Given the description of an element on the screen output the (x, y) to click on. 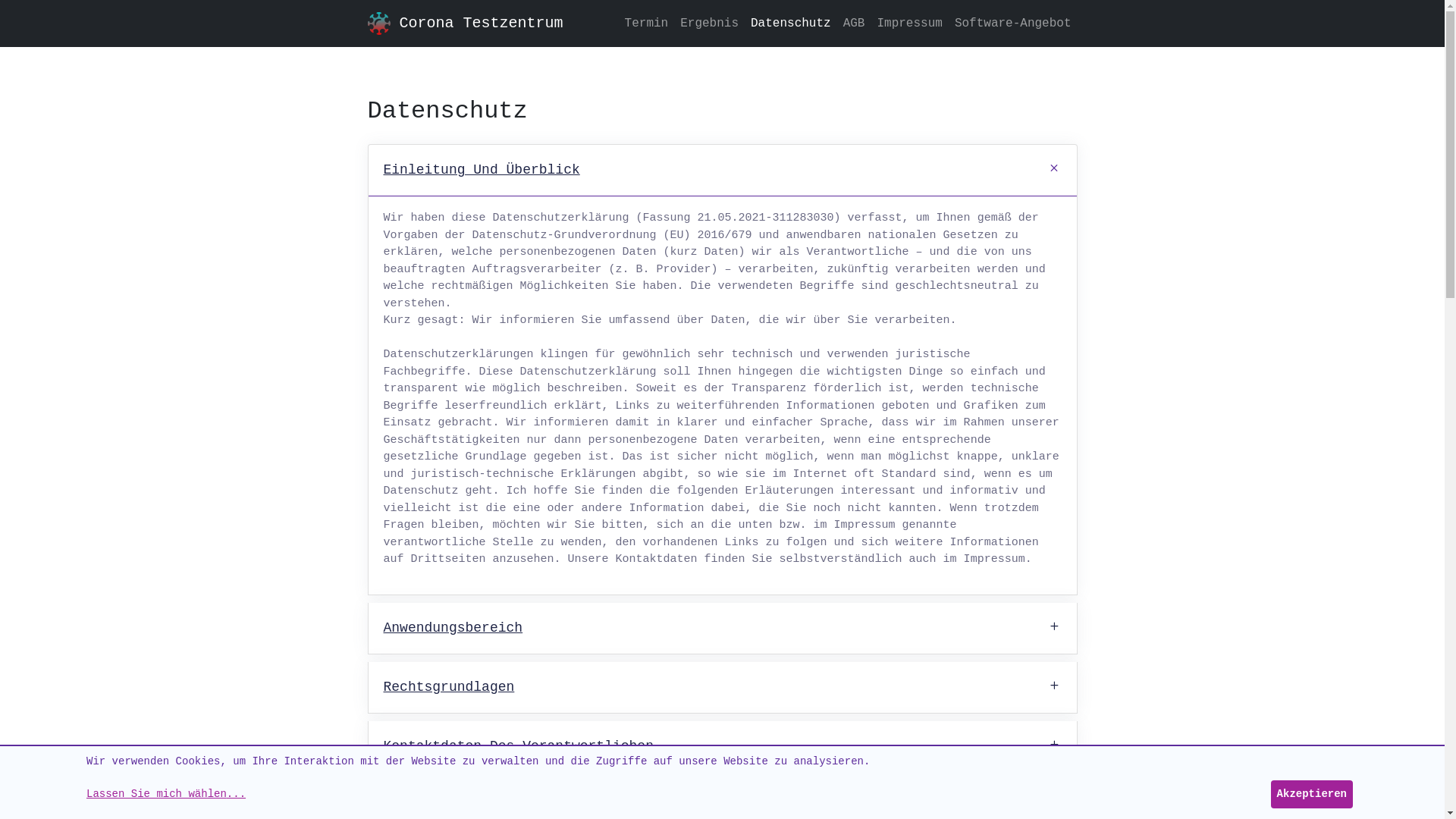
Impressum Element type: text (908, 23)
Datenschutz Element type: text (790, 23)
Kontaktdaten Des Verantwortlichen Element type: text (722, 746)
Anwendungsbereich Element type: text (722, 627)
Ergebnis Element type: text (709, 23)
Software-Angebot Element type: text (1012, 23)
Akzeptieren Element type: text (1311, 794)
Rechtsgrundlagen Element type: text (722, 687)
Termin Element type: text (646, 23)
Corona Testzentrum Element type: text (480, 23)
AGB Element type: text (854, 23)
